Given the description of an element on the screen output the (x, y) to click on. 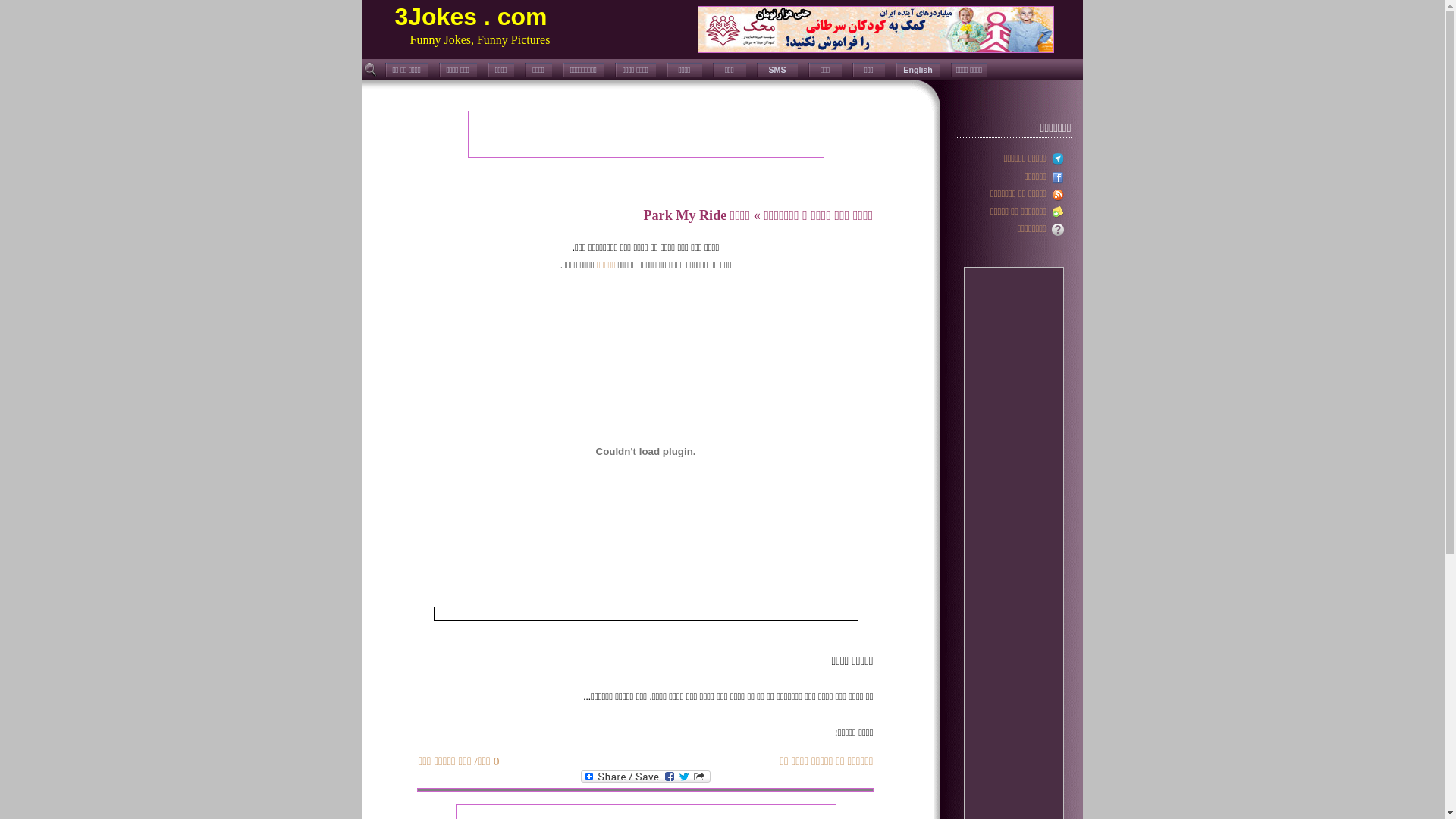
3Jokes . com Element type: text (470, 16)
 English  Element type: text (917, 69)
   SMS    Element type: text (777, 69)
